Given the description of an element on the screen output the (x, y) to click on. 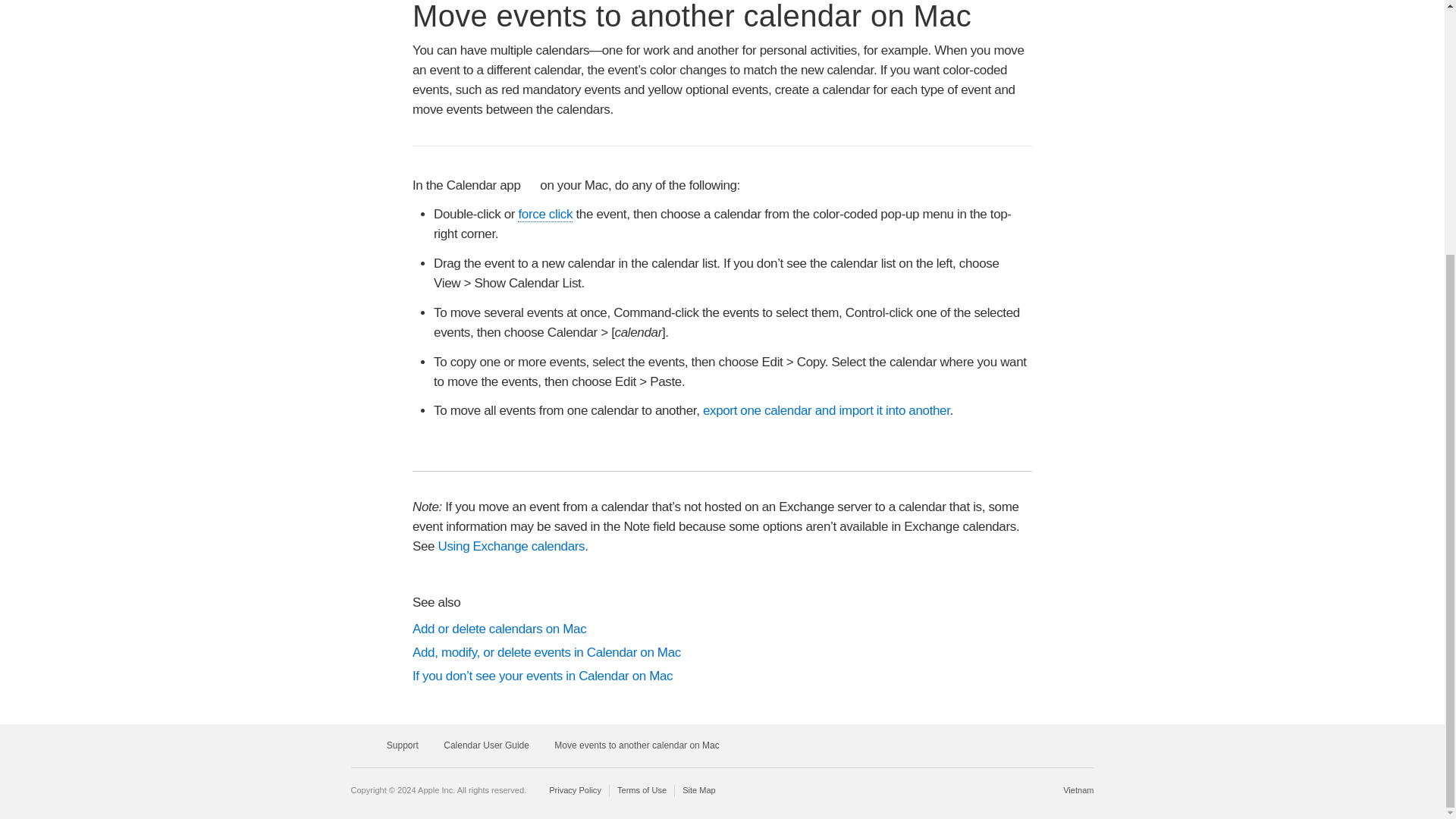
Choose your country or region (1077, 789)
